Given the description of an element on the screen output the (x, y) to click on. 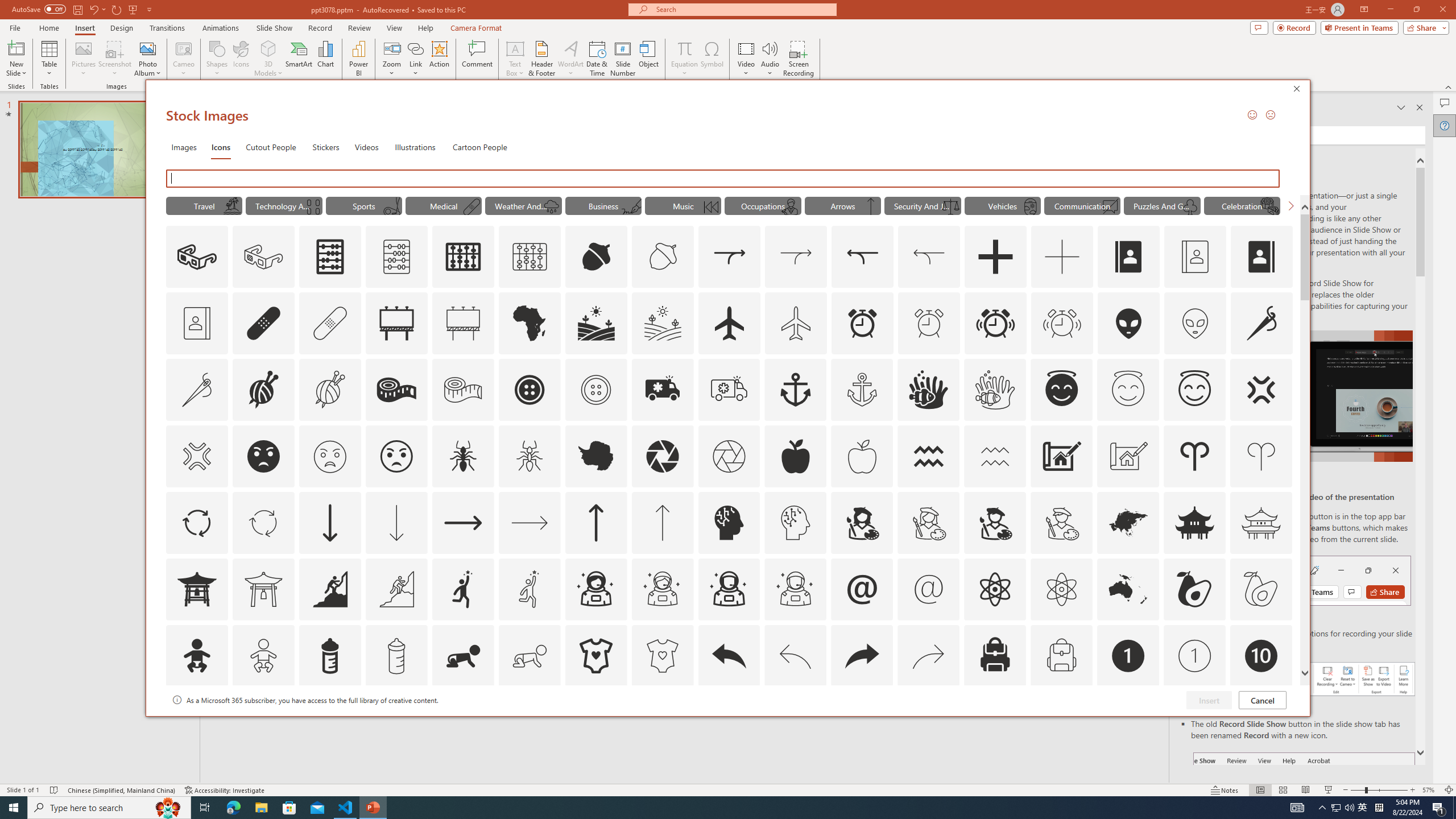
Send a Frown (1269, 114)
AutomationID: Icons_AngerSymbol_M (196, 455)
Camera Format (475, 28)
